Given the description of an element on the screen output the (x, y) to click on. 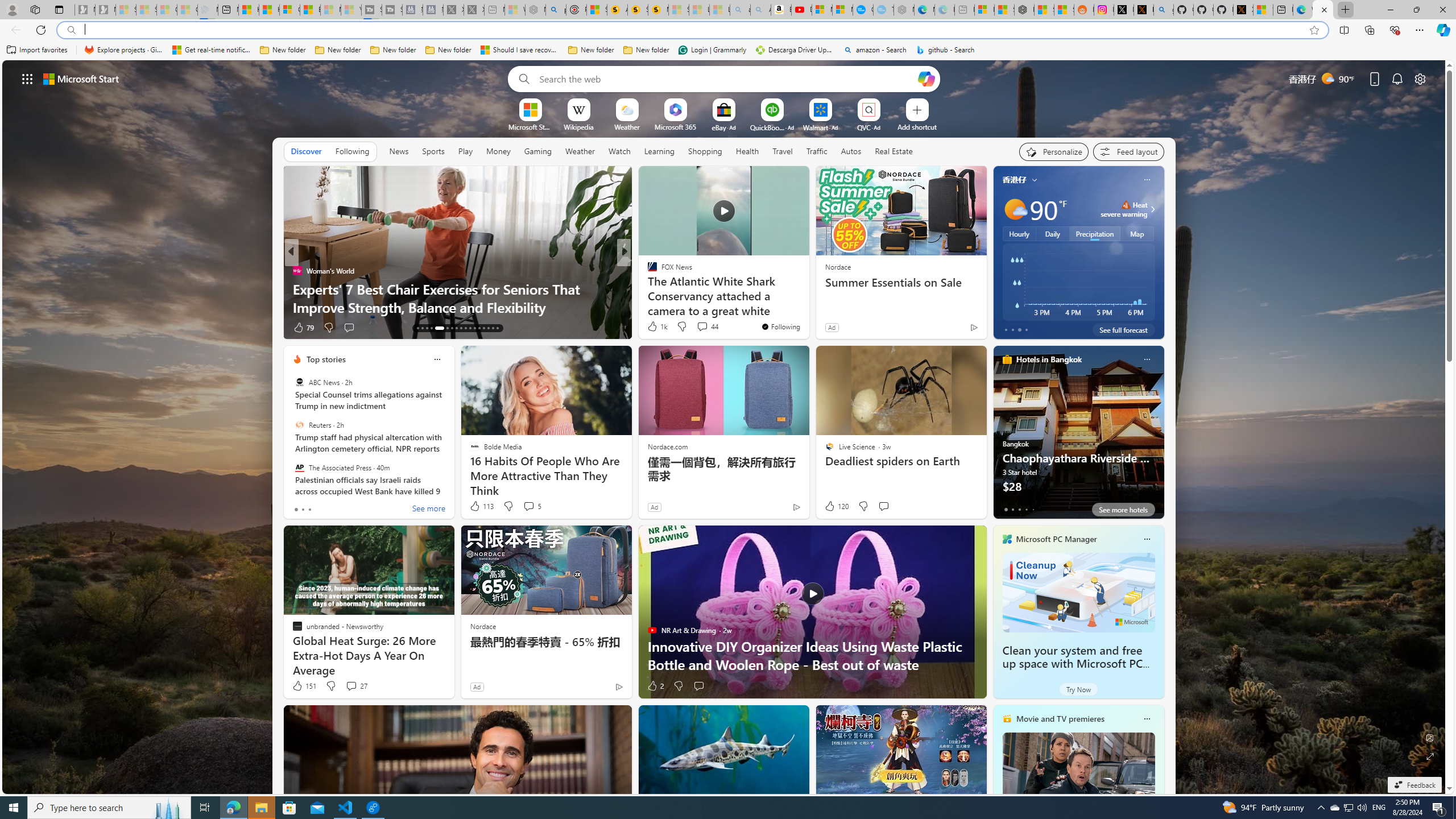
Following (352, 151)
Login | Grammarly (712, 49)
Chaophayathara Riverside Hotel (1078, 436)
AutomationID: tab-16 (431, 328)
Shopping (705, 151)
View comments 191 Comment (6, 327)
AutomationID: tab-21 (460, 328)
View comments 5 Comment (528, 505)
5 Like (651, 327)
